Given the description of an element on the screen output the (x, y) to click on. 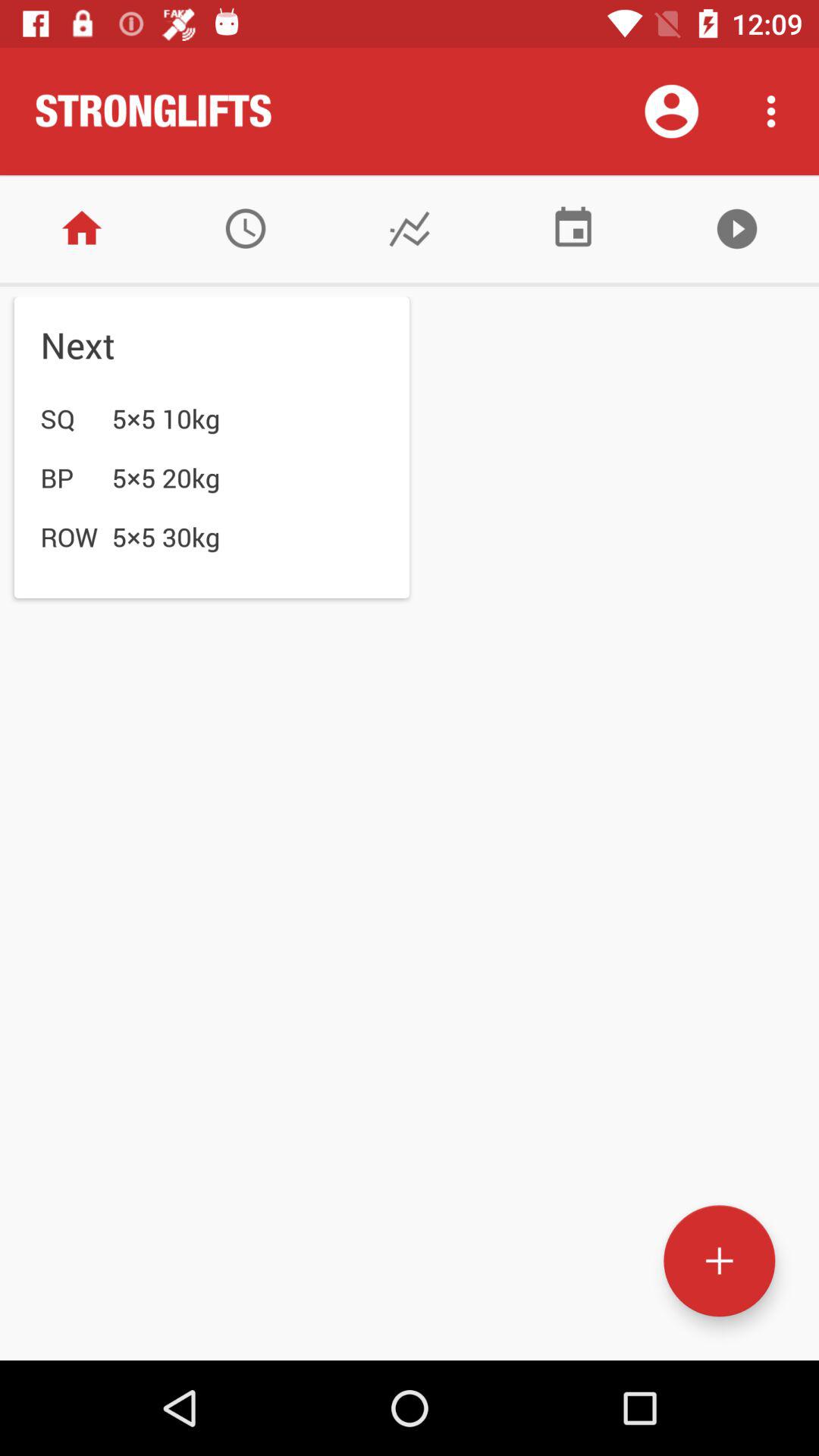
open calendar (573, 228)
